Given the description of an element on the screen output the (x, y) to click on. 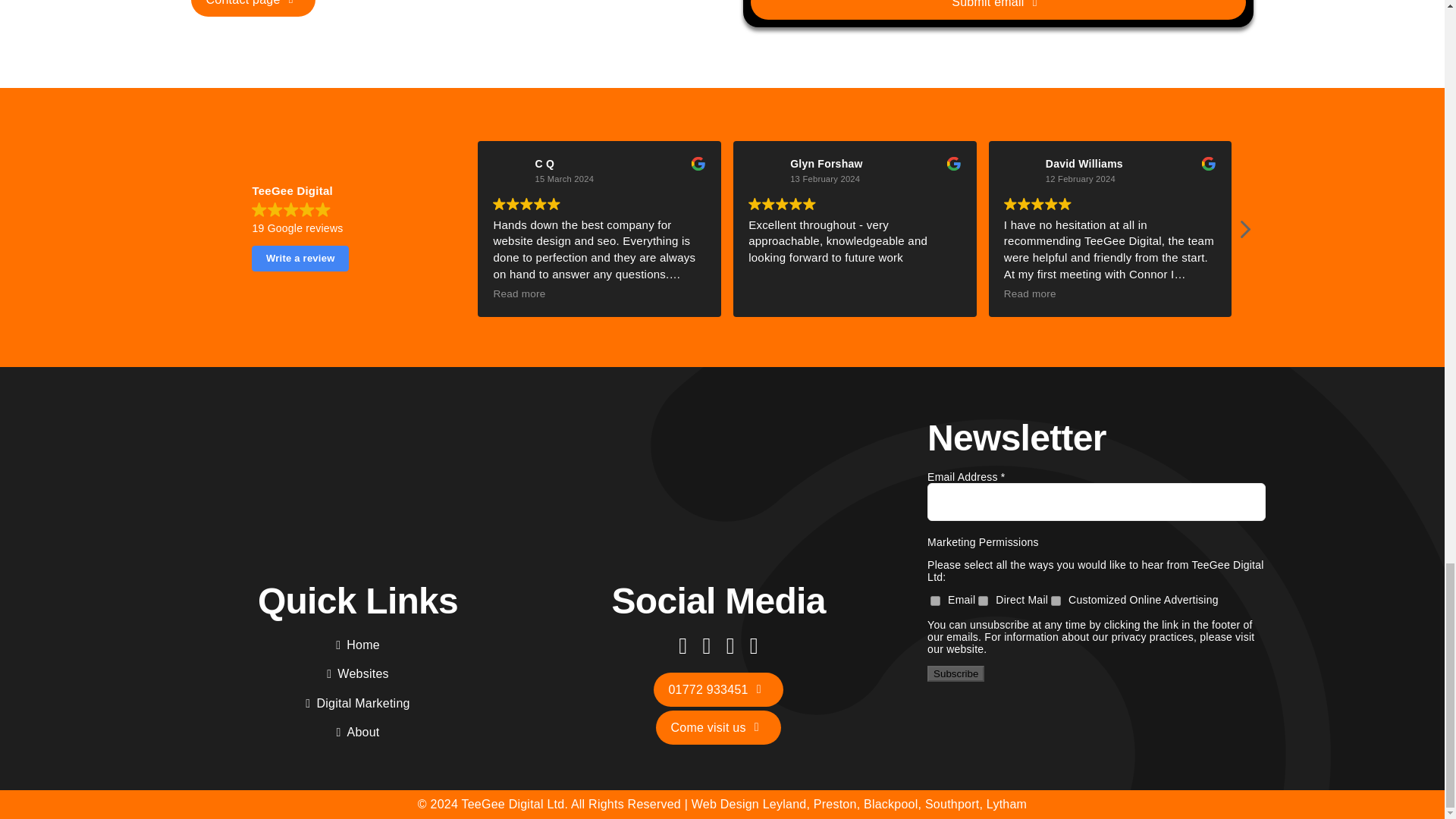
Subscribe (955, 673)
Submit email (997, 9)
Y (983, 601)
Y (935, 601)
Y (1056, 601)
